Given the description of an element on the screen output the (x, y) to click on. 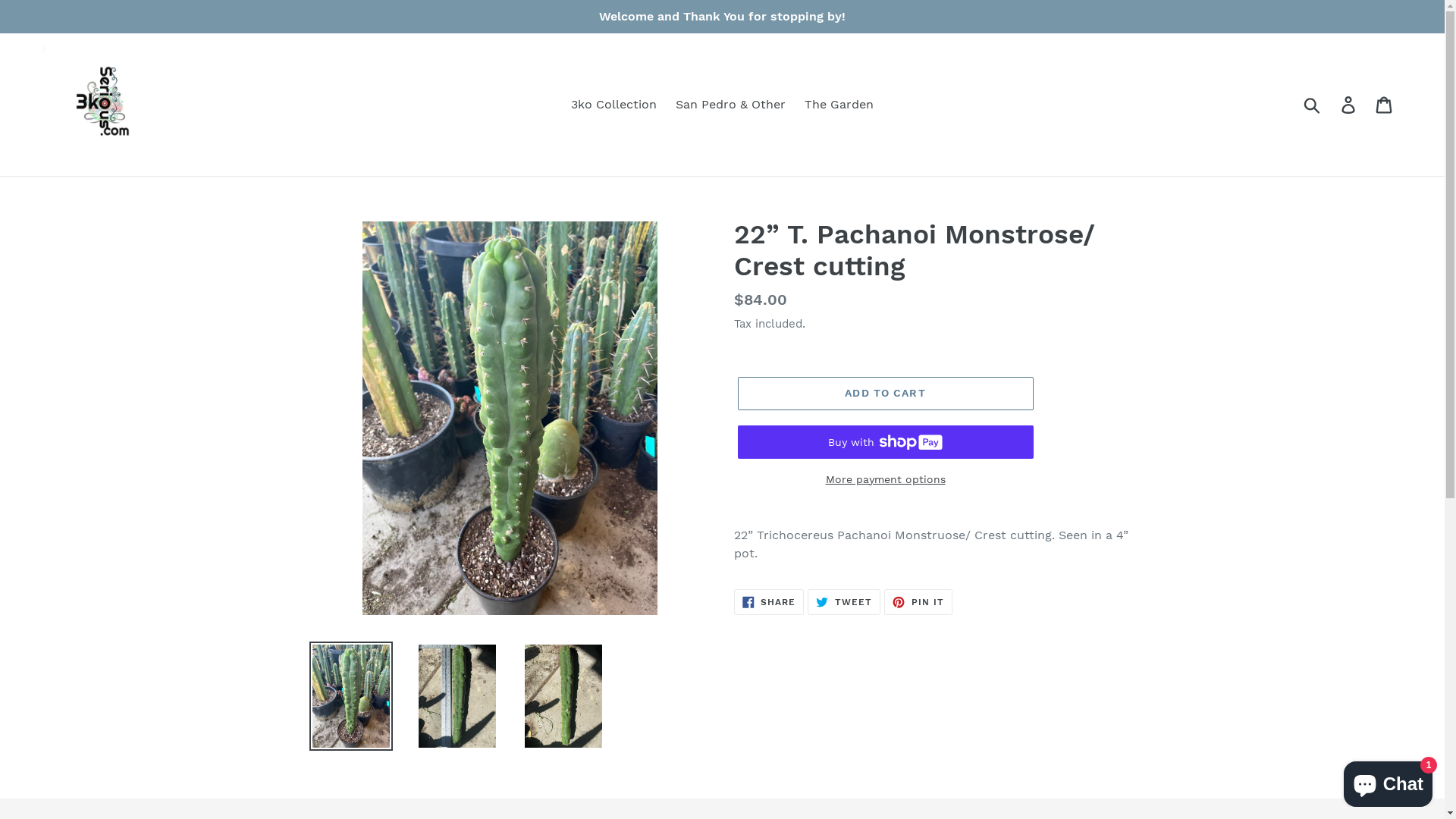
Shopify online store chat Element type: hover (1388, 780)
Log in Element type: text (1349, 104)
TWEET
TWEET ON TWITTER Element type: text (843, 602)
Submit Element type: text (1312, 104)
The Garden Element type: text (839, 104)
PIN IT
PIN ON PINTEREST Element type: text (918, 602)
Cart Element type: text (1384, 104)
3ko Collection Element type: text (613, 104)
ADD TO CART Element type: text (884, 393)
SHARE
SHARE ON FACEBOOK Element type: text (769, 602)
San Pedro & Other Element type: text (730, 104)
More payment options Element type: text (884, 479)
